Given the description of an element on the screen output the (x, y) to click on. 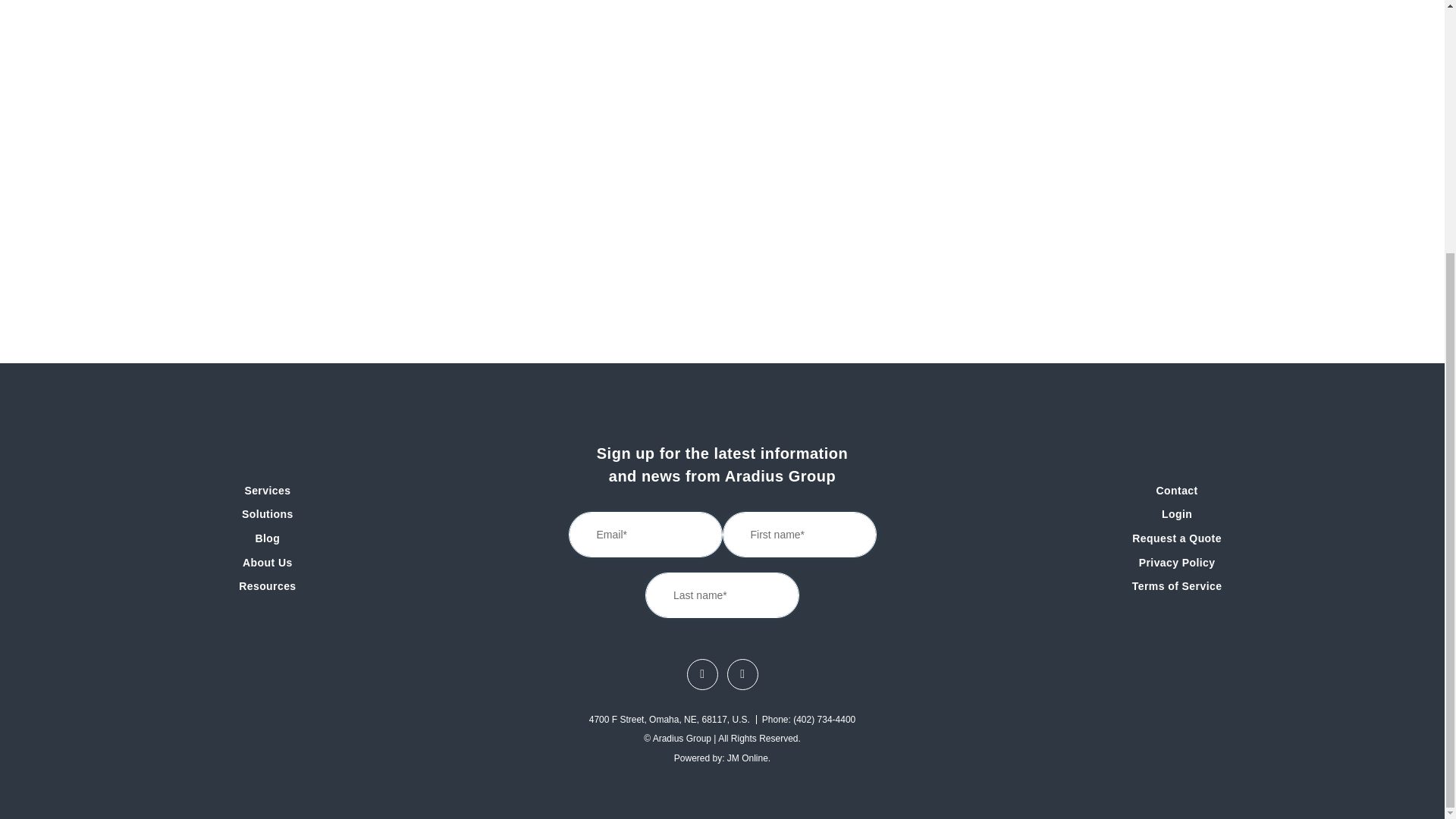
Submit (844, 591)
